Given the description of an element on the screen output the (x, y) to click on. 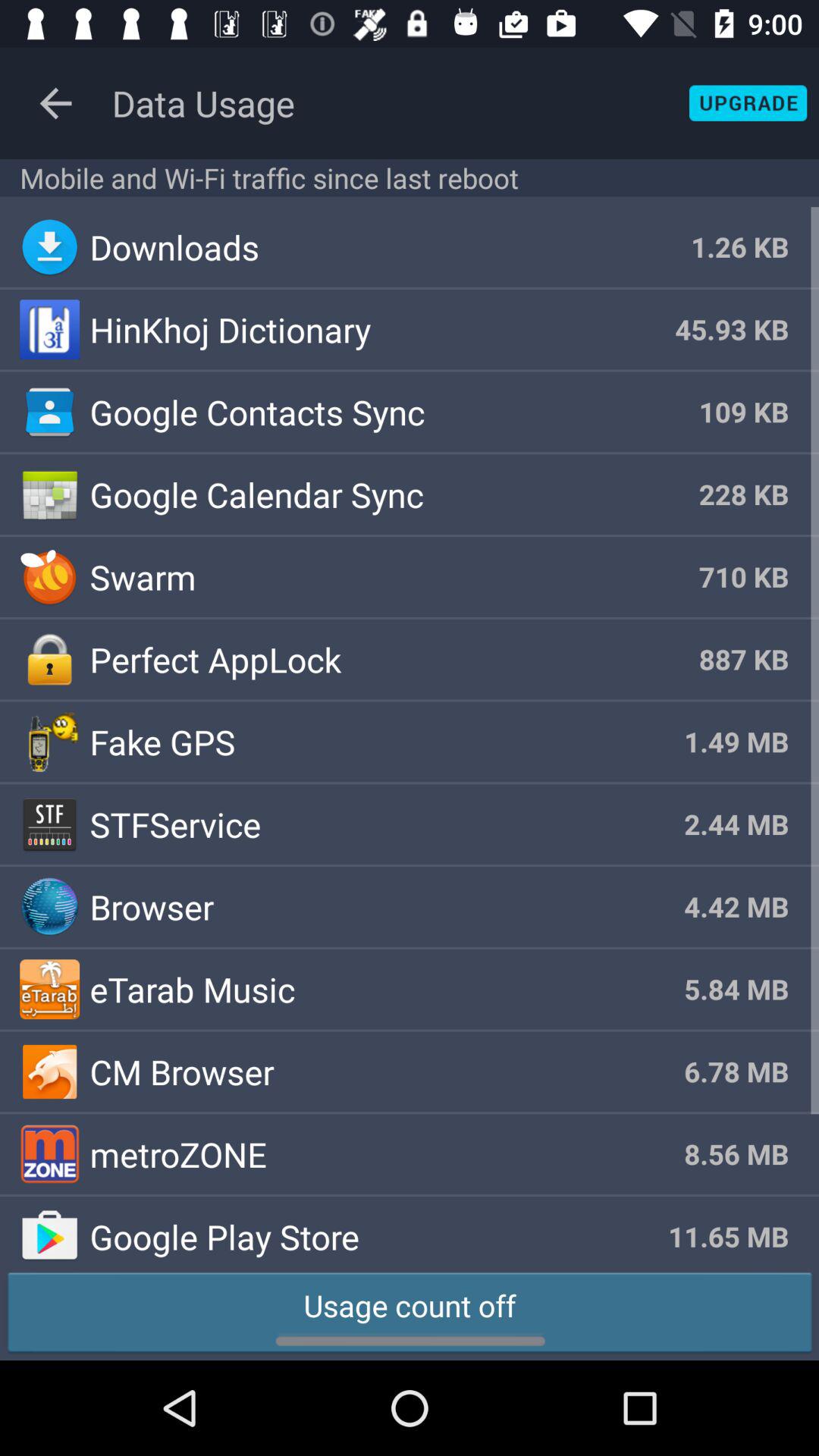
upgrade (748, 103)
